Given the description of an element on the screen output the (x, y) to click on. 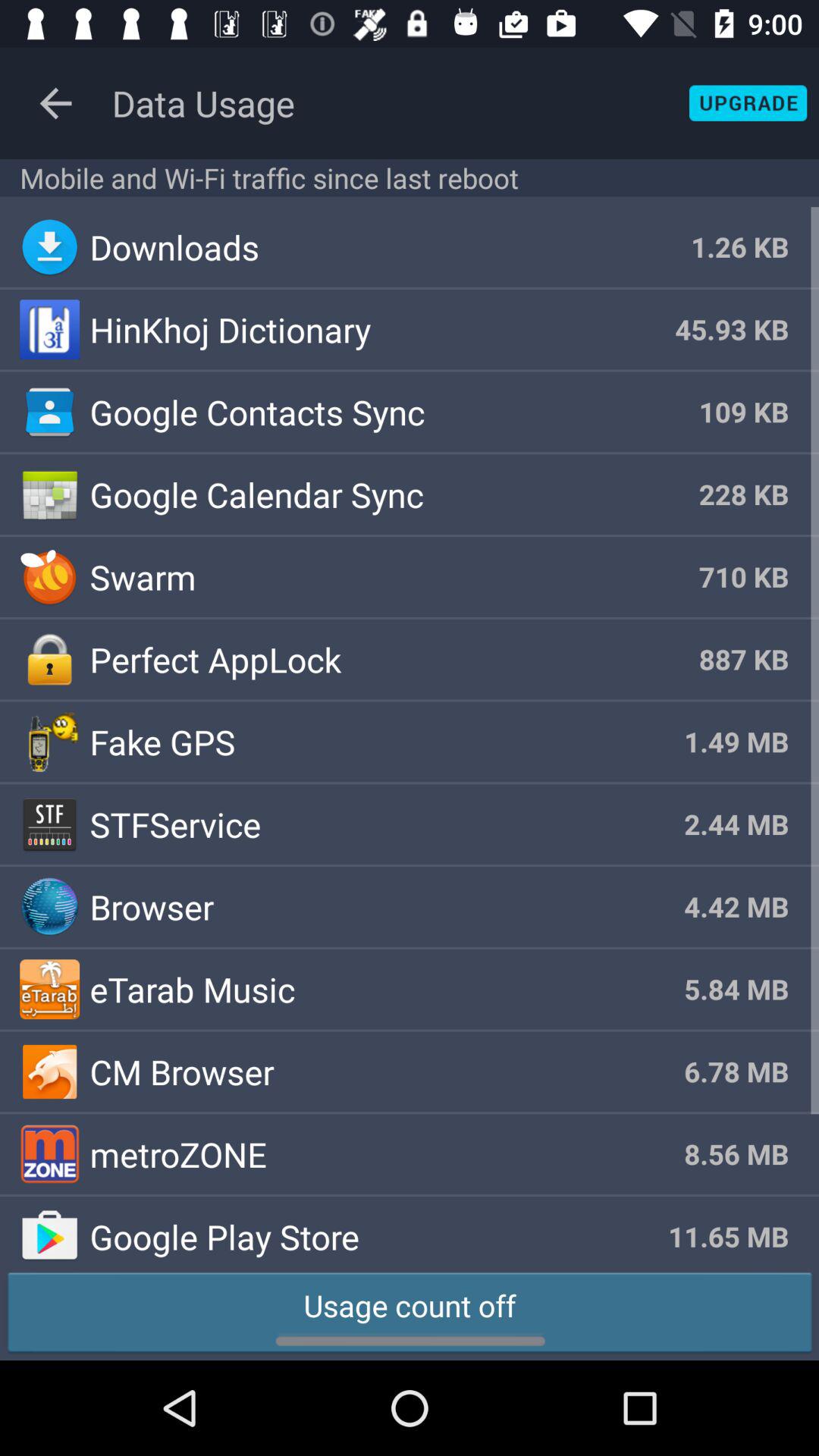
upgrade (748, 103)
